Given the description of an element on the screen output the (x, y) to click on. 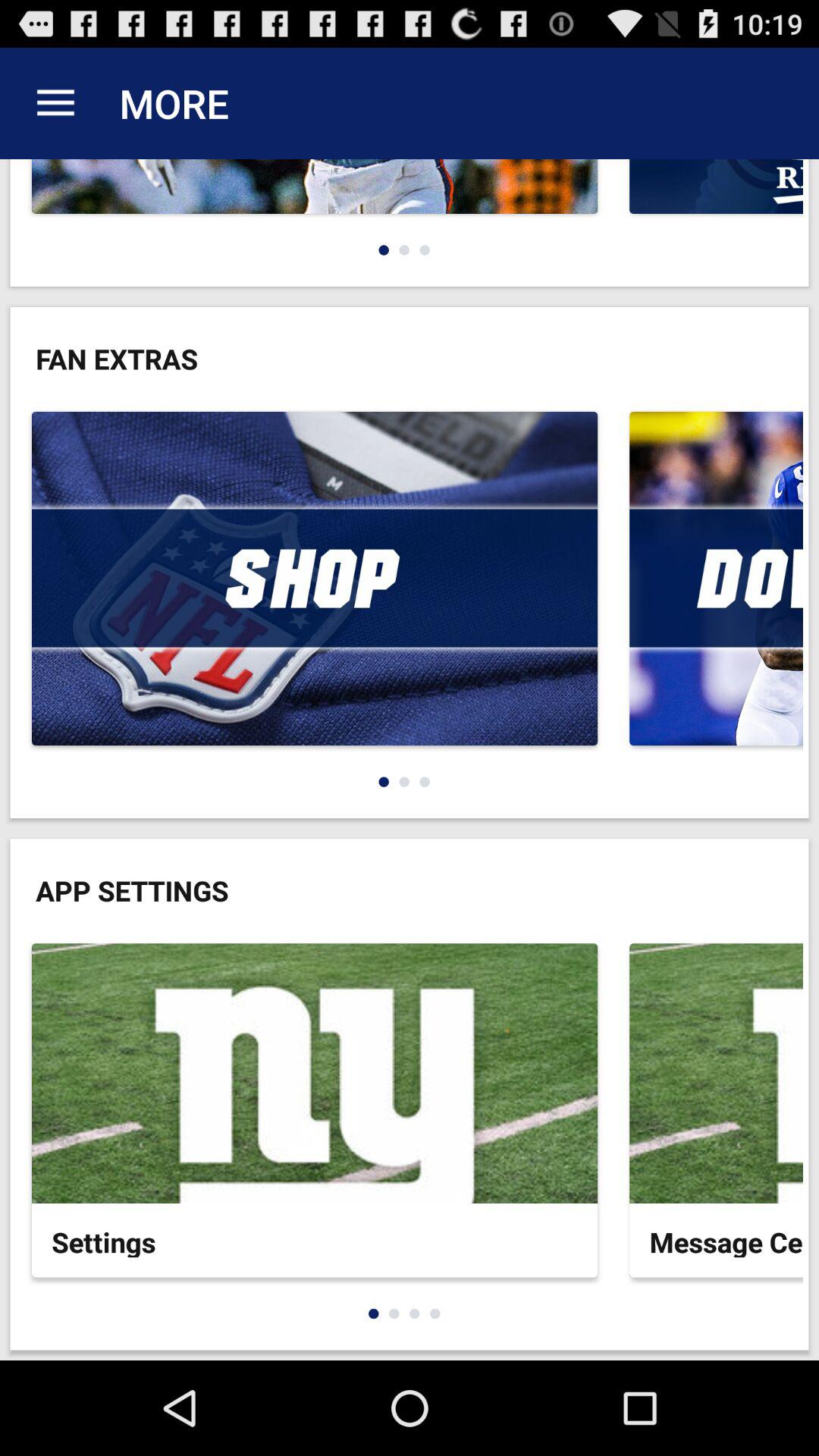
select app to the left of more app (55, 103)
